Given the description of an element on the screen output the (x, y) to click on. 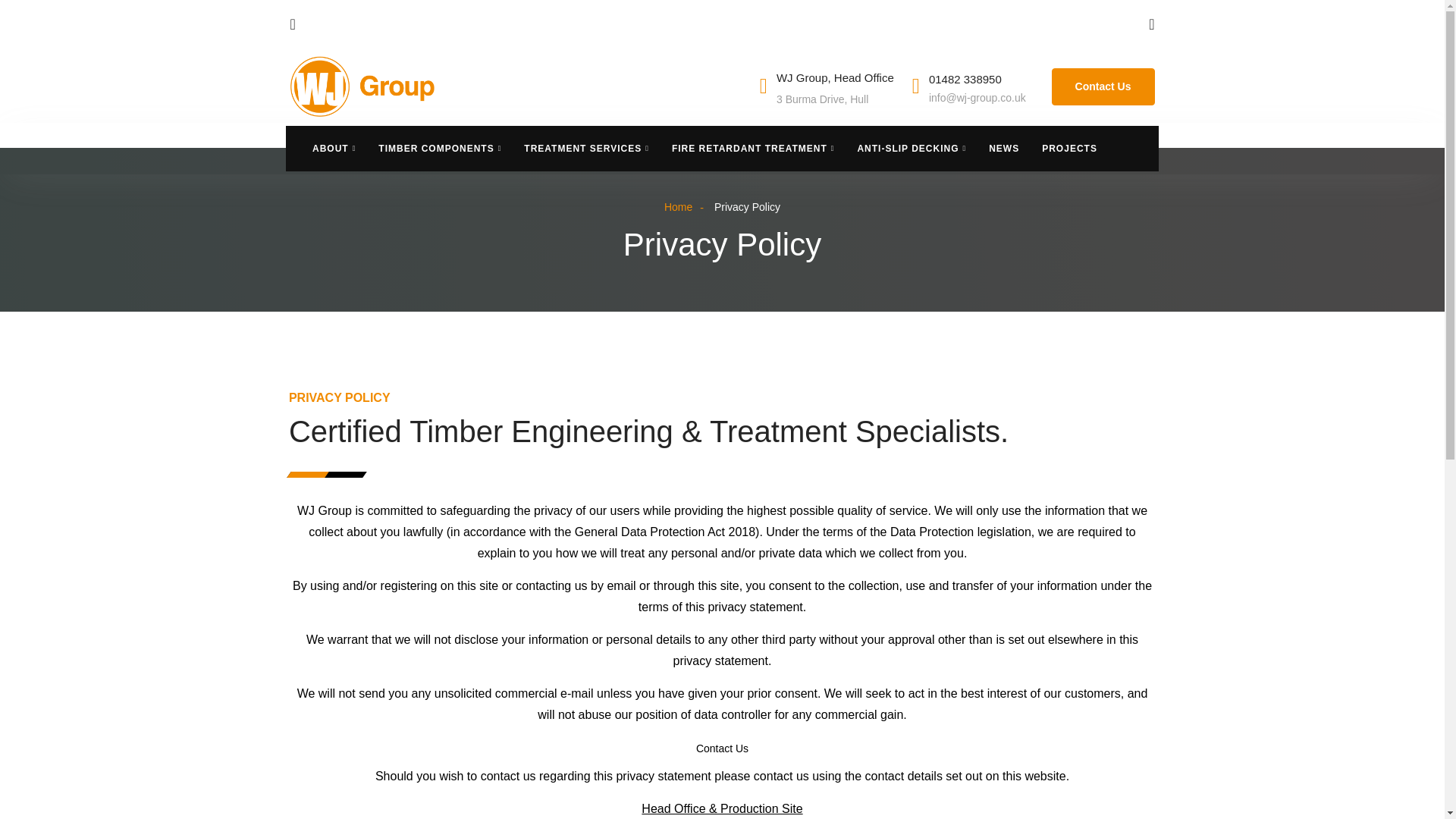
Contact Us (1102, 86)
Learn More (1102, 86)
TREATMENT SERVICES (586, 148)
TIMBER COMPONENTS (439, 148)
ABOUT (339, 148)
01482 338950 (964, 78)
FIRE RETARDANT TREATMENT (753, 148)
